Given the description of an element on the screen output the (x, y) to click on. 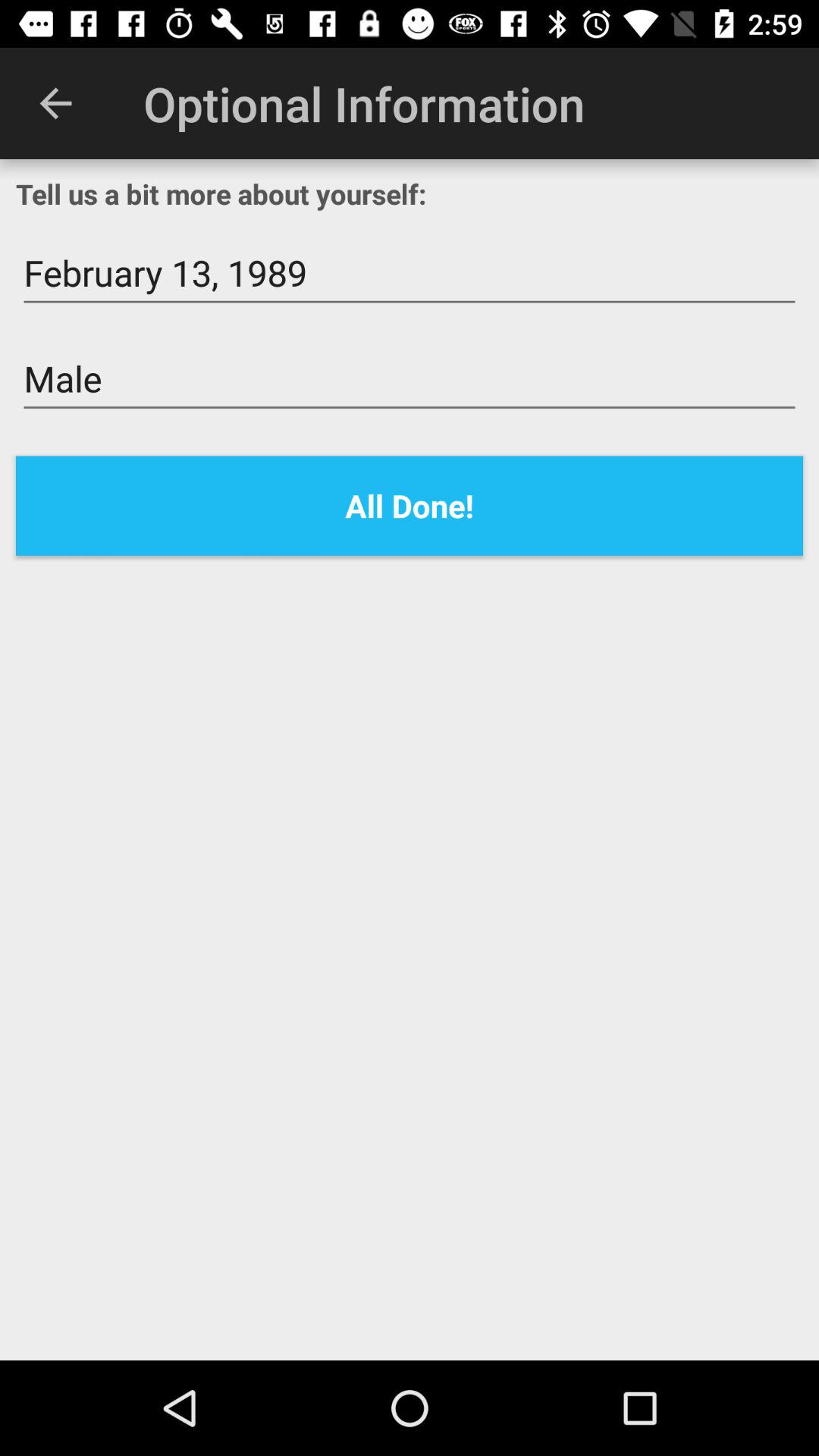
turn off the item above male icon (409, 273)
